Given the description of an element on the screen output the (x, y) to click on. 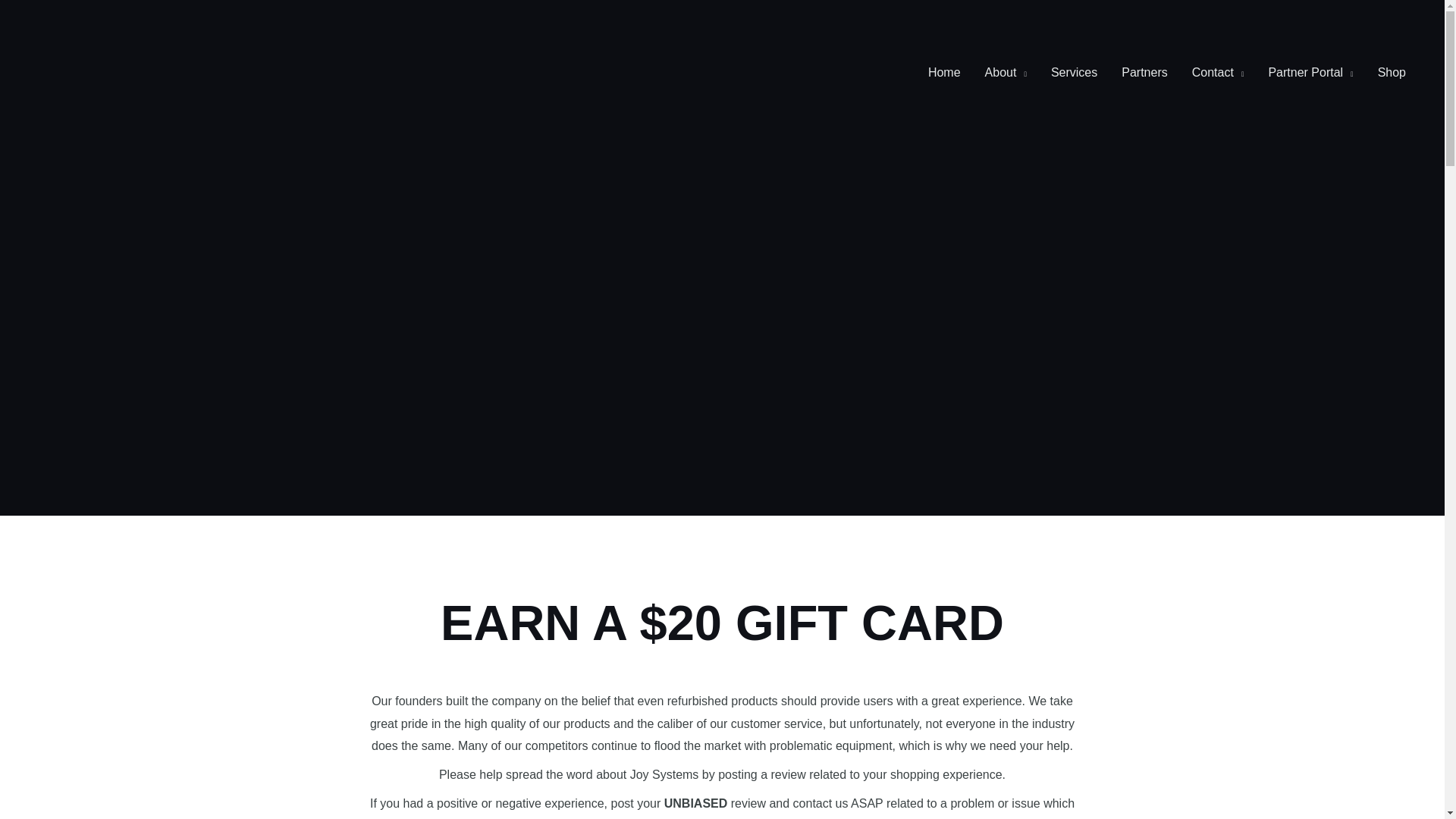
Contact (1217, 72)
Home (943, 72)
Shop (1391, 72)
Services (1074, 72)
About (1005, 72)
Partner Portal (1310, 72)
Partners (1144, 72)
